Given the description of an element on the screen output the (x, y) to click on. 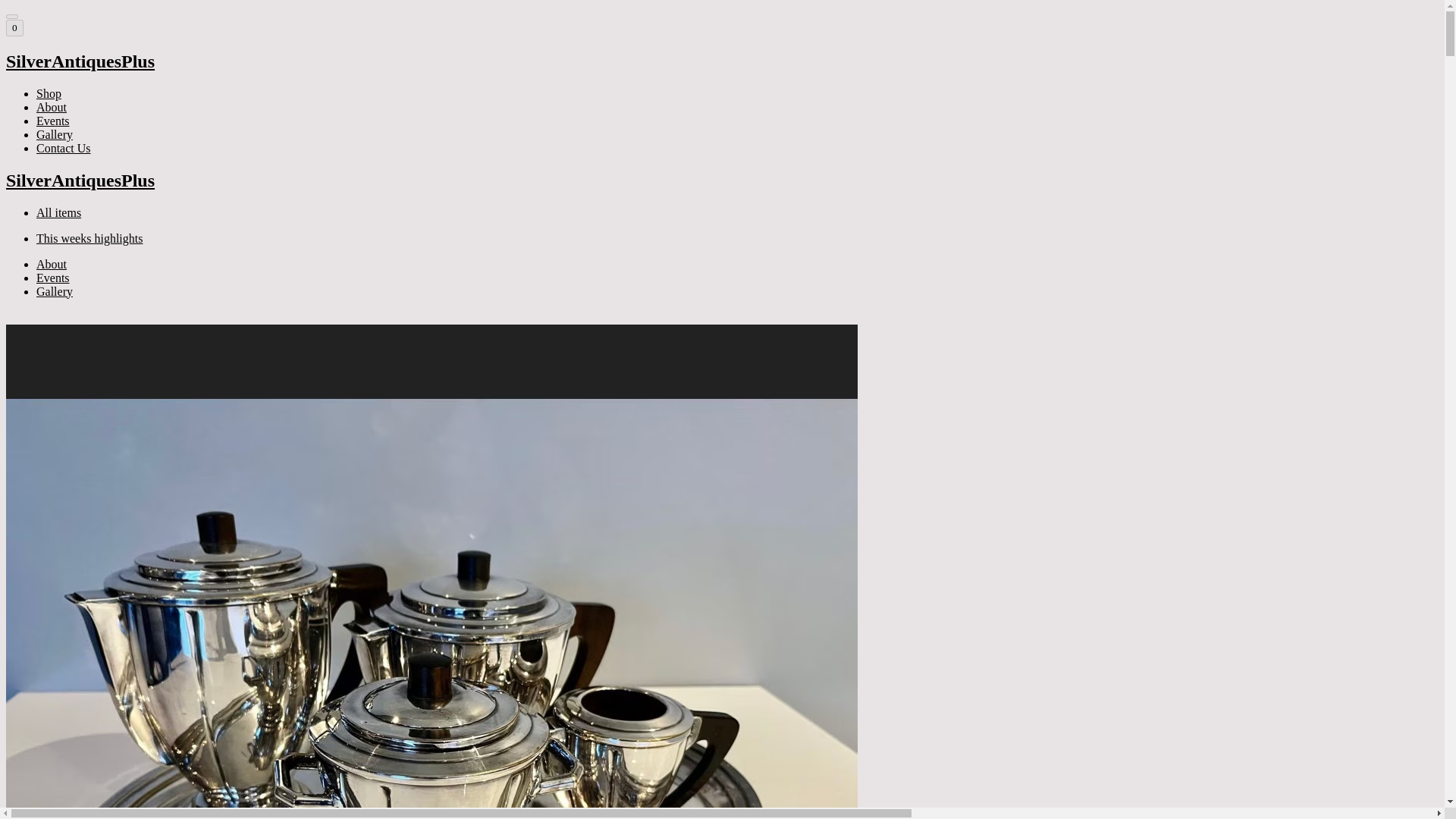
Gallery (54, 133)
Events (52, 120)
Gallery (54, 291)
About (51, 264)
0 (14, 27)
About (51, 106)
All items (58, 212)
This weeks highlights (89, 237)
Contact Us (63, 147)
Events (52, 277)
Shop (48, 92)
SilverAntiquesPlus (721, 61)
SilverAntiquesPlus (721, 180)
